Given the description of an element on the screen output the (x, y) to click on. 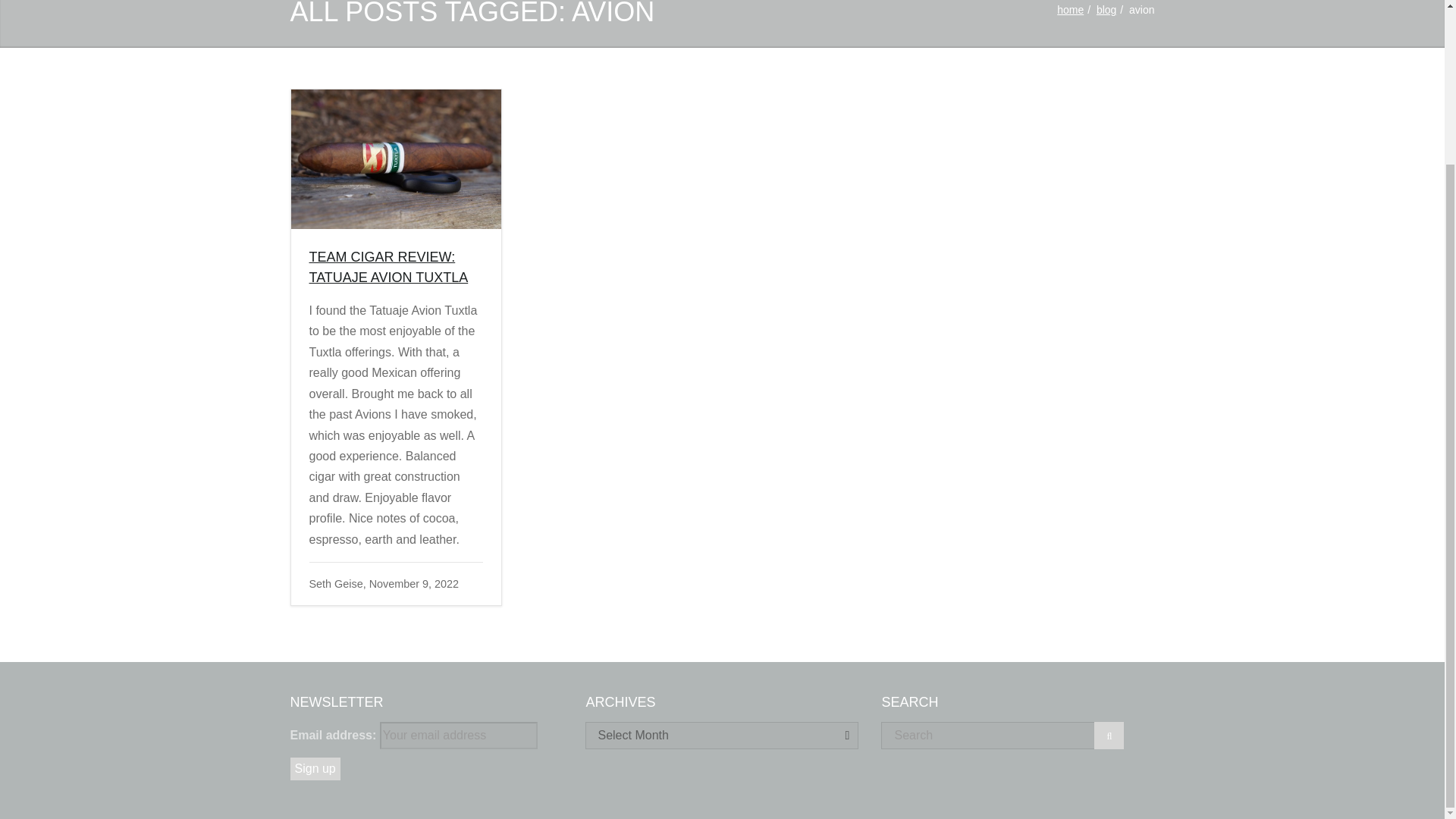
blog (1106, 9)
Sign up (314, 768)
TEAM CIGAR REVIEW: TATUAJE AVION TUXTLA (388, 267)
home (1070, 9)
Sign up (314, 768)
Search (1109, 735)
